Given the description of an element on the screen output the (x, y) to click on. 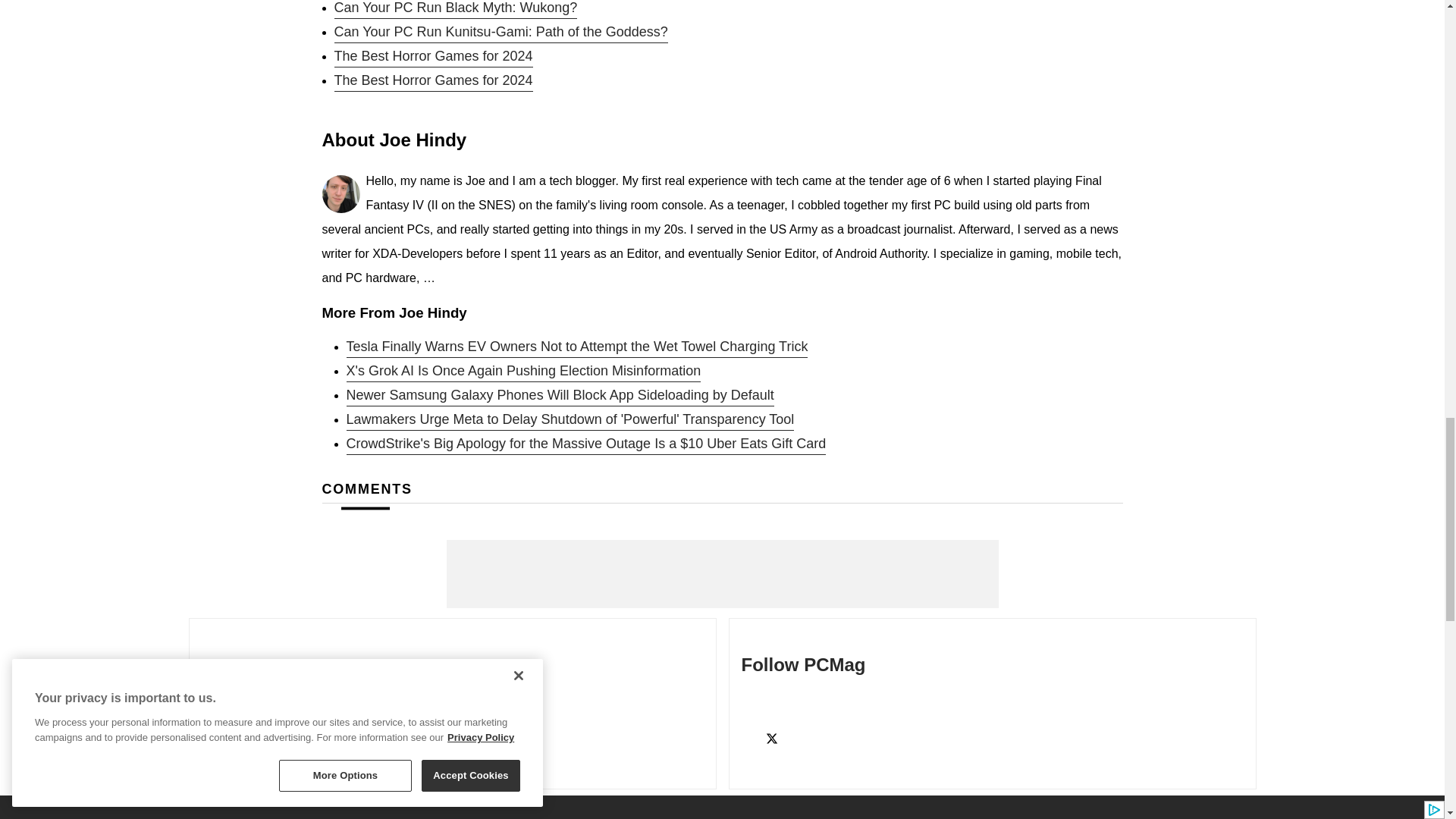
3rd party ad content (721, 573)
